Given the description of an element on the screen output the (x, y) to click on. 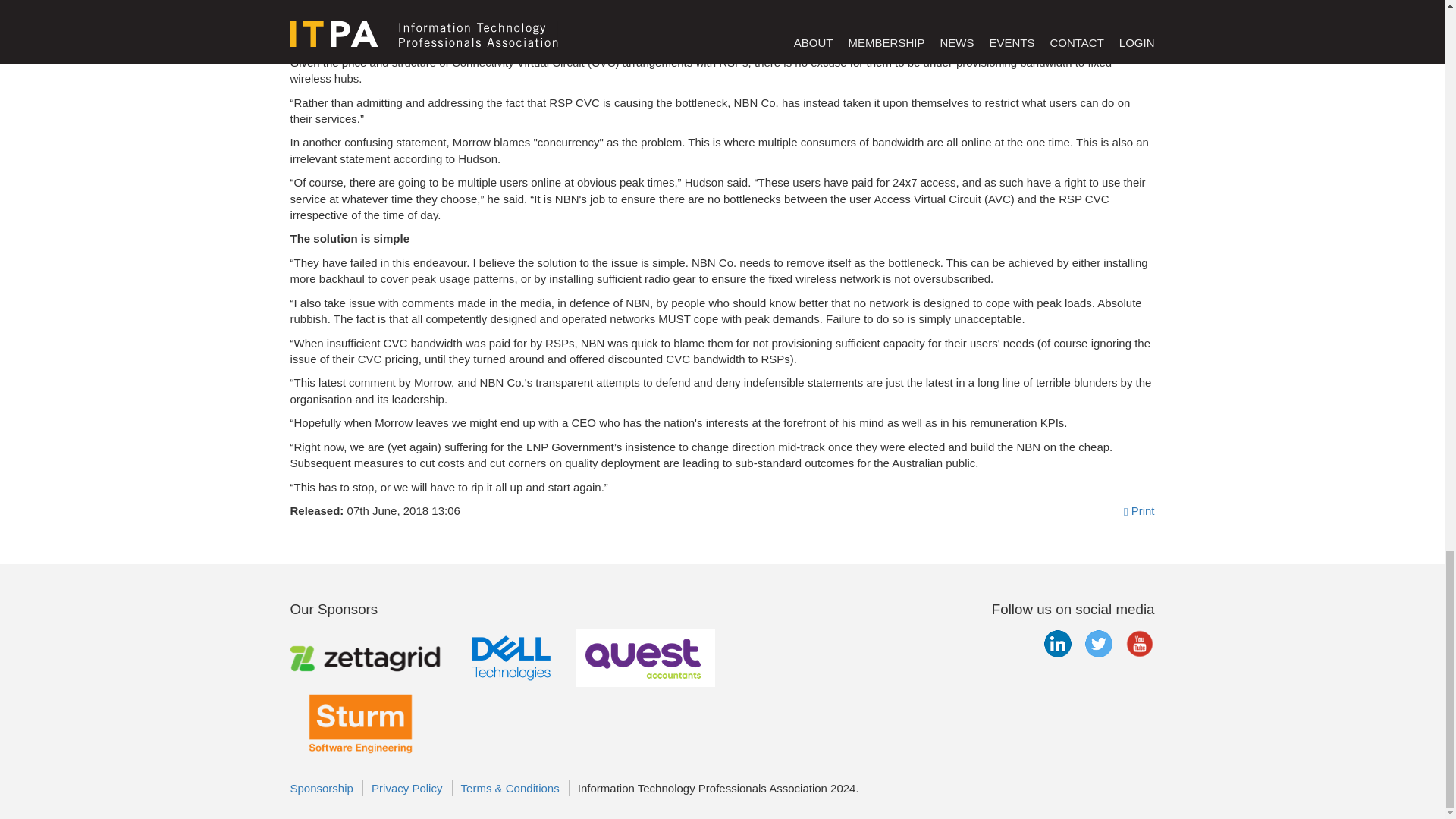
Dell Technologies (511, 656)
Dell (511, 657)
Print (1139, 510)
Sturm Software Engineering (360, 720)
Quest Accountants (645, 658)
Zettagrid (367, 656)
Sturm Software Engineering (360, 722)
Quest Accountants (645, 656)
